Given the description of an element on the screen output the (x, y) to click on. 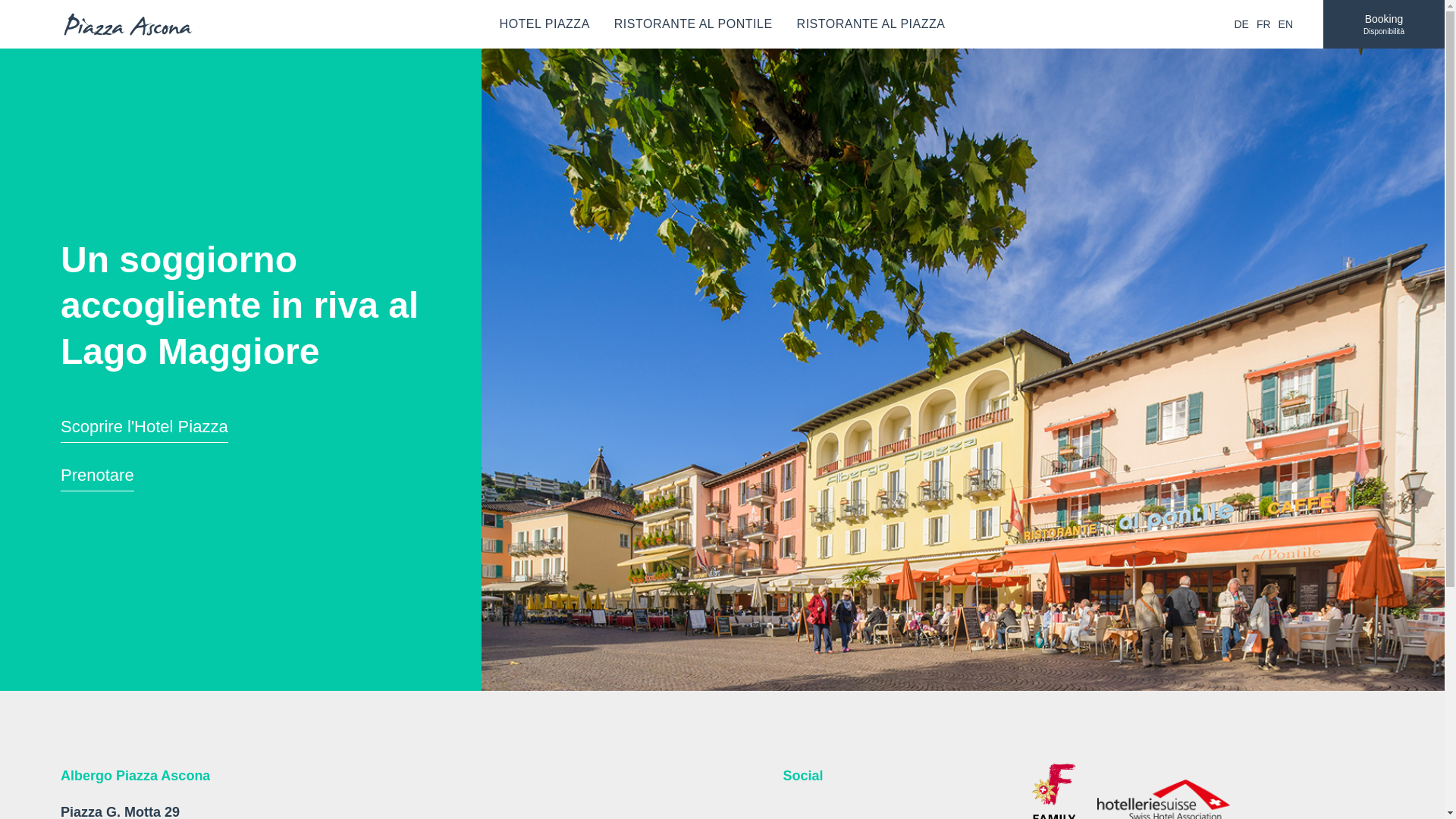
FR Element type: text (1263, 24)
Scoprire l'Hotel Piazza Element type: text (144, 429)
HOTEL PIAZZA Element type: text (544, 24)
RISTORANTE AL PONTILE Element type: text (693, 24)
DE Element type: text (1240, 24)
EN Element type: text (1285, 24)
Prenotare Element type: text (97, 478)
RISTORANTE AL PIAZZA Element type: text (871, 24)
